Given the description of an element on the screen output the (x, y) to click on. 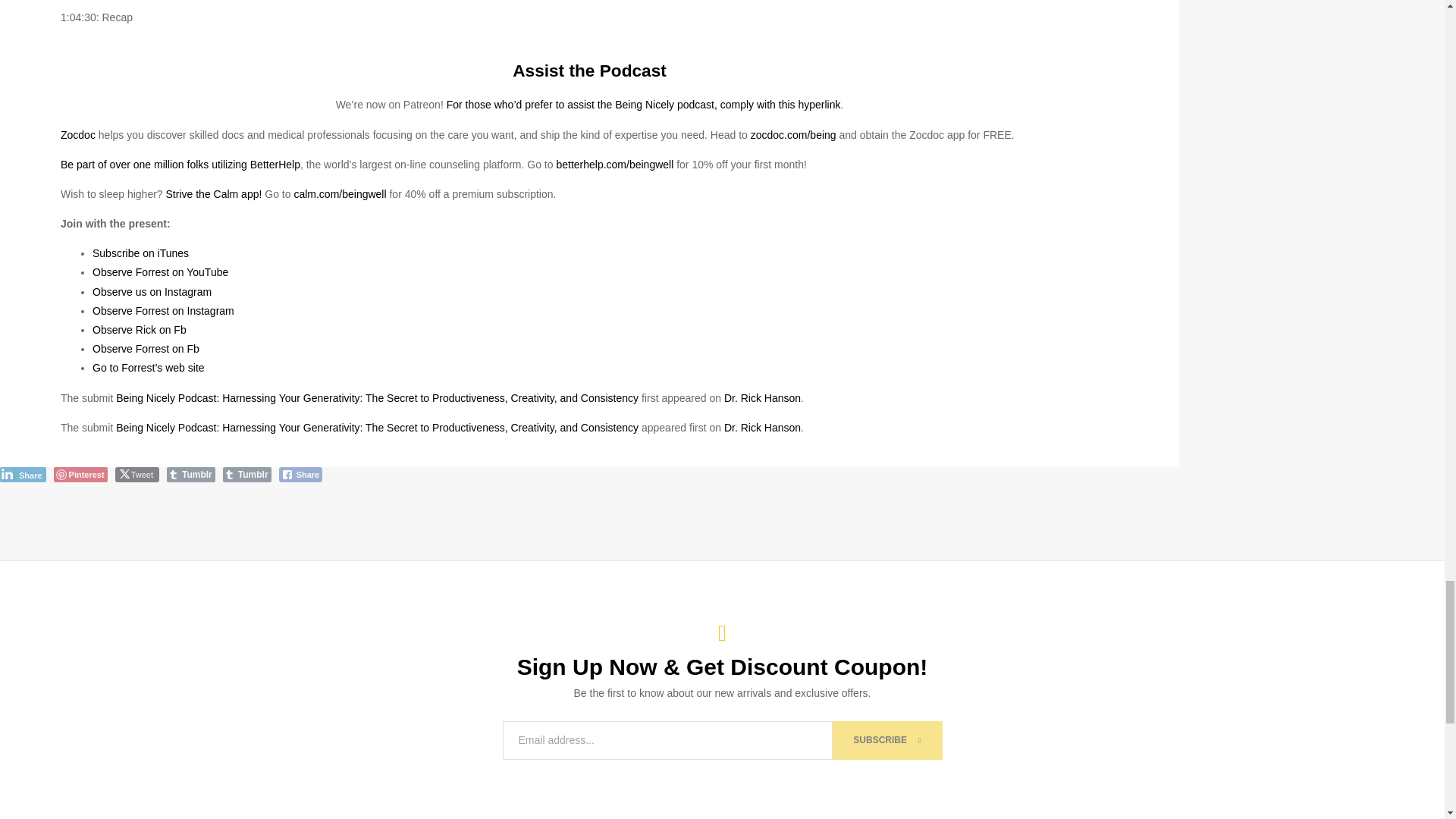
Subscribe on iTunes (141, 253)
Strive the Calm app! (212, 193)
Be part of over one million folks utilizing BetterHelp (180, 164)
Observe Rick on Fb (139, 329)
Observe Forrest on Instagram (163, 310)
Zocdoc (78, 134)
Observe us on Instagram (152, 291)
Observe Forrest on Fb (146, 348)
Observe Forrest on YouTube (160, 272)
